Given the description of an element on the screen output the (x, y) to click on. 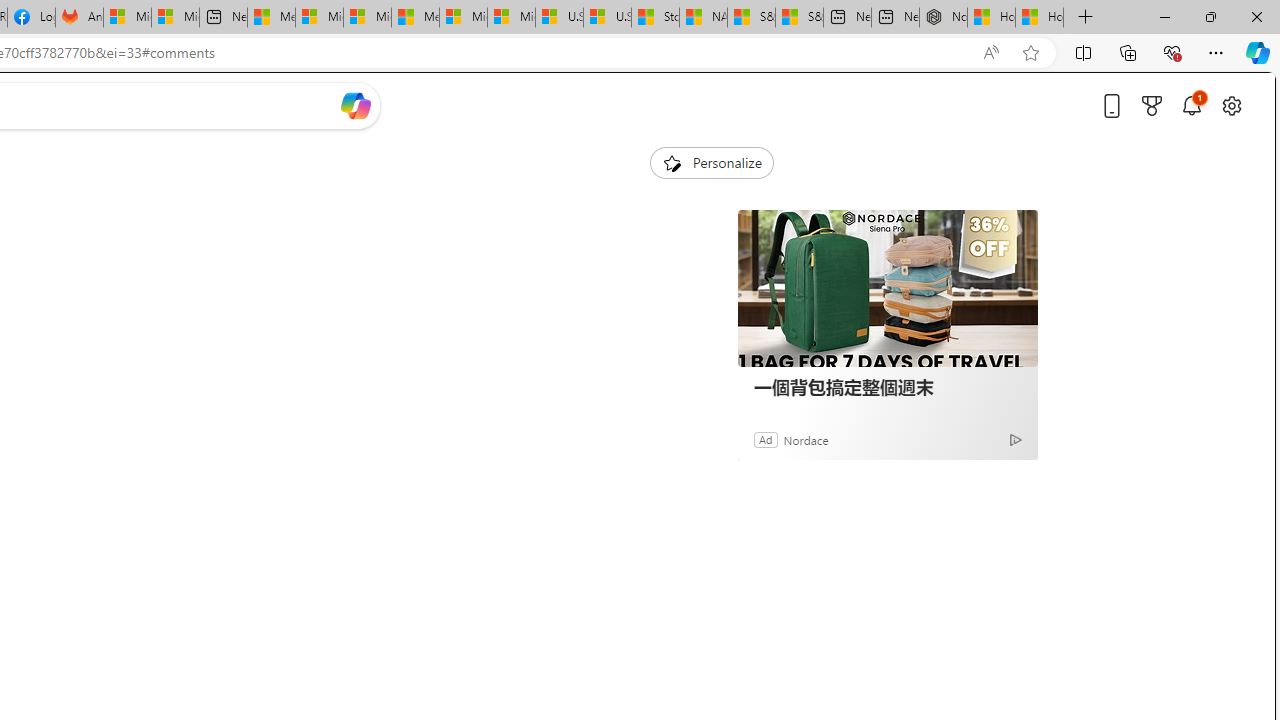
Microsoft rewards (1151, 105)
Open settings (1231, 105)
Microsoft account | Home (367, 17)
